Given the description of an element on the screen output the (x, y) to click on. 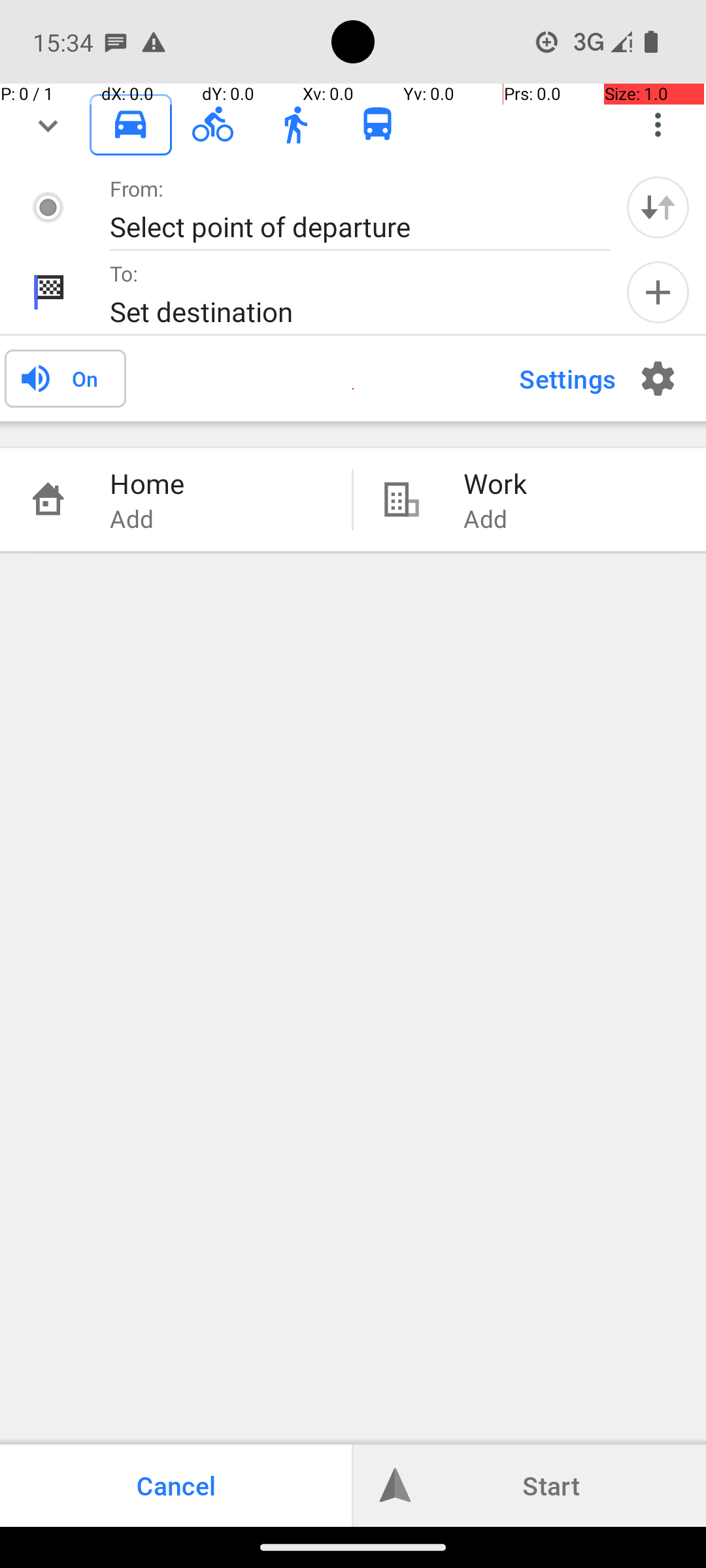
fold/unfold Element type: android.widget.ImageView (48, 124)
Choose app modes Element type: android.widget.ImageView (657, 124)
From: Element type: android.widget.TextView (136, 188)
Select point of departure Element type: android.widget.TextView (345, 226)
Swap Element type: android.widget.FrameLayout (657, 207)
To: Element type: android.widget.TextView (123, 273)
Set destination Element type: android.widget.TextView (345, 310)
Driving checked Element type: android.widget.ImageView (130, 124)
Cycling unchecked Element type: android.widget.ImageView (212, 124)
On Element type: android.widget.TextView (84, 378)
